Given the description of an element on the screen output the (x, y) to click on. 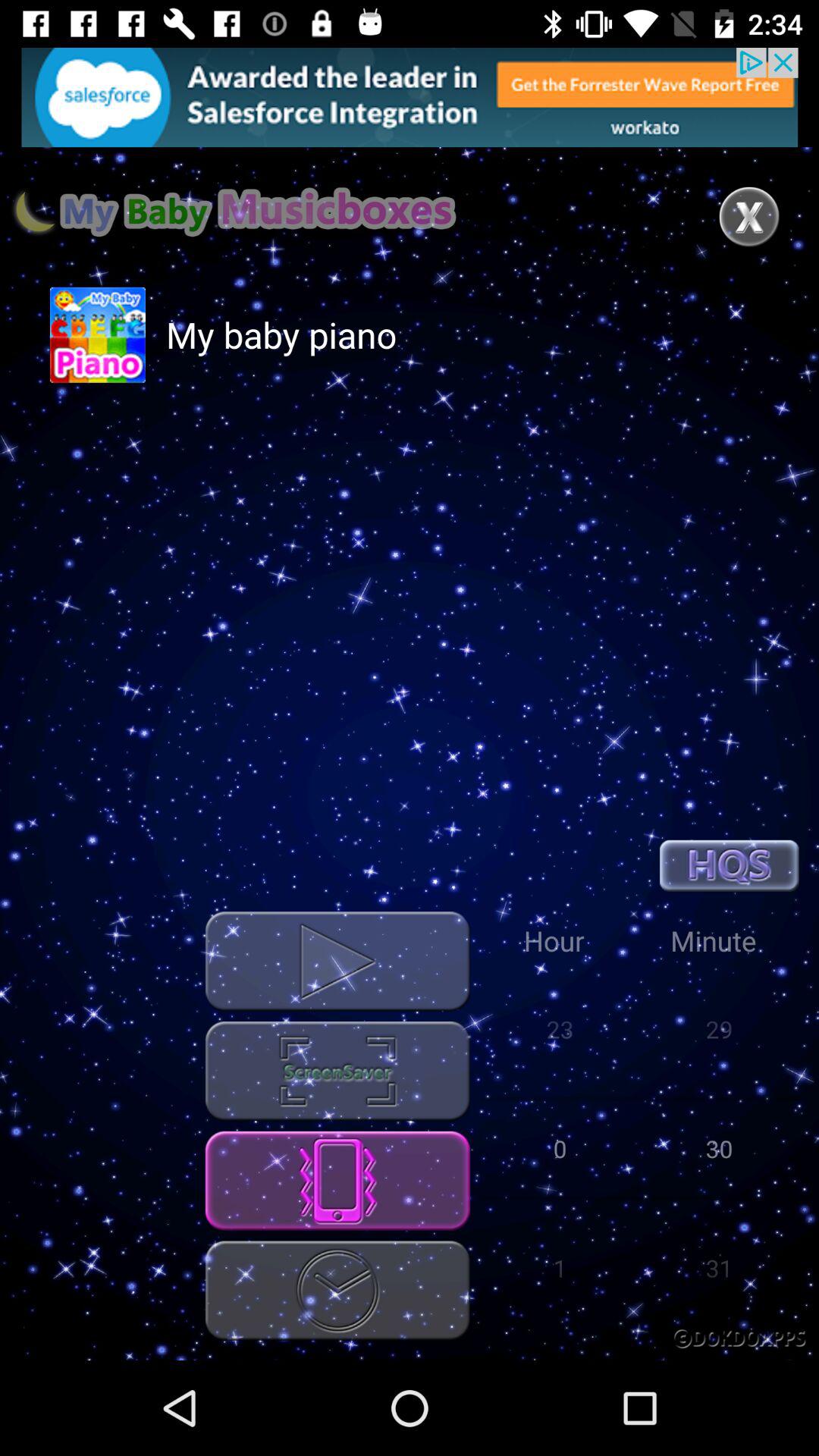
play button (337, 961)
